Given the description of an element on the screen output the (x, y) to click on. 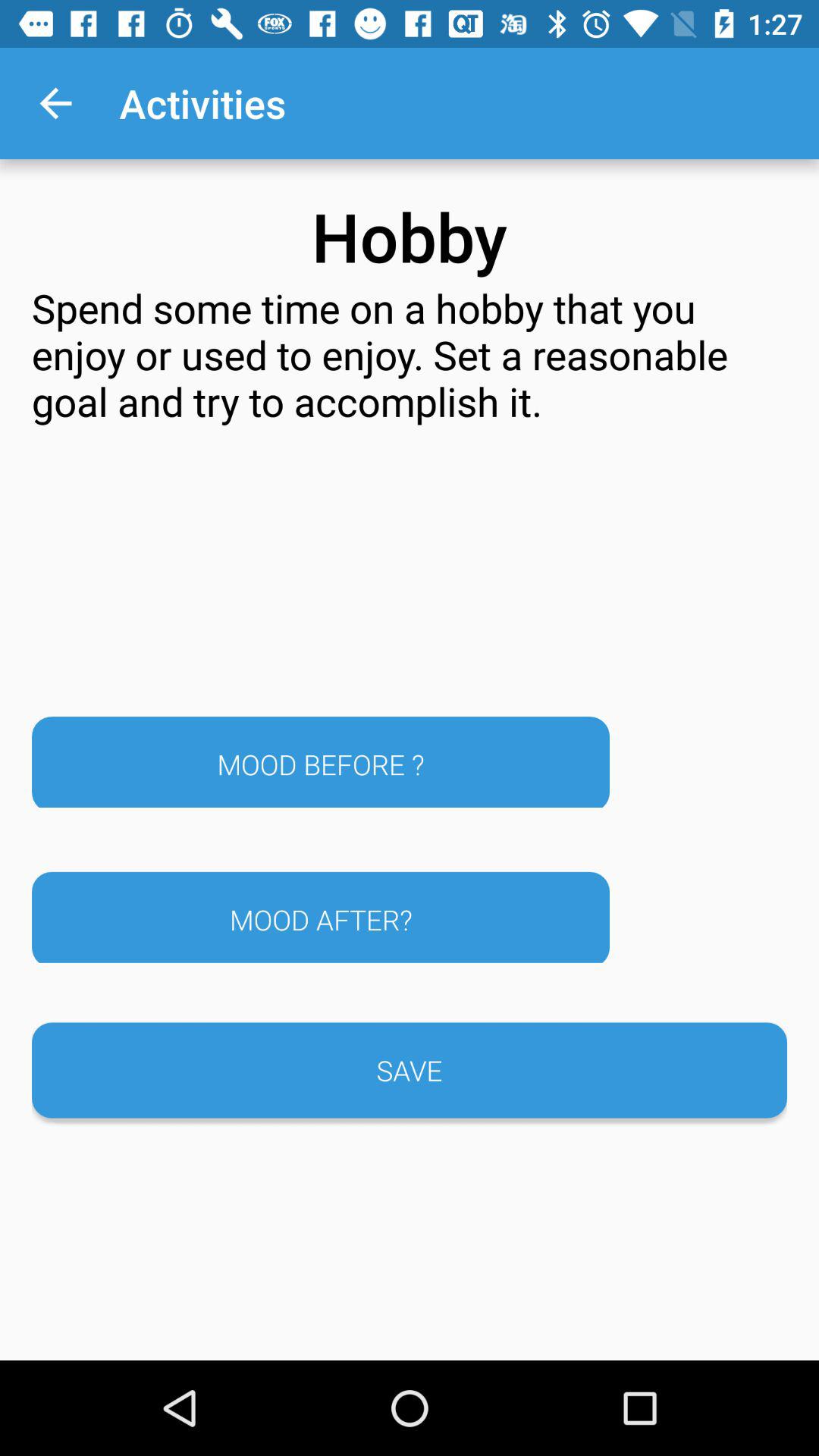
launch button below the mood after? button (409, 1070)
